Given the description of an element on the screen output the (x, y) to click on. 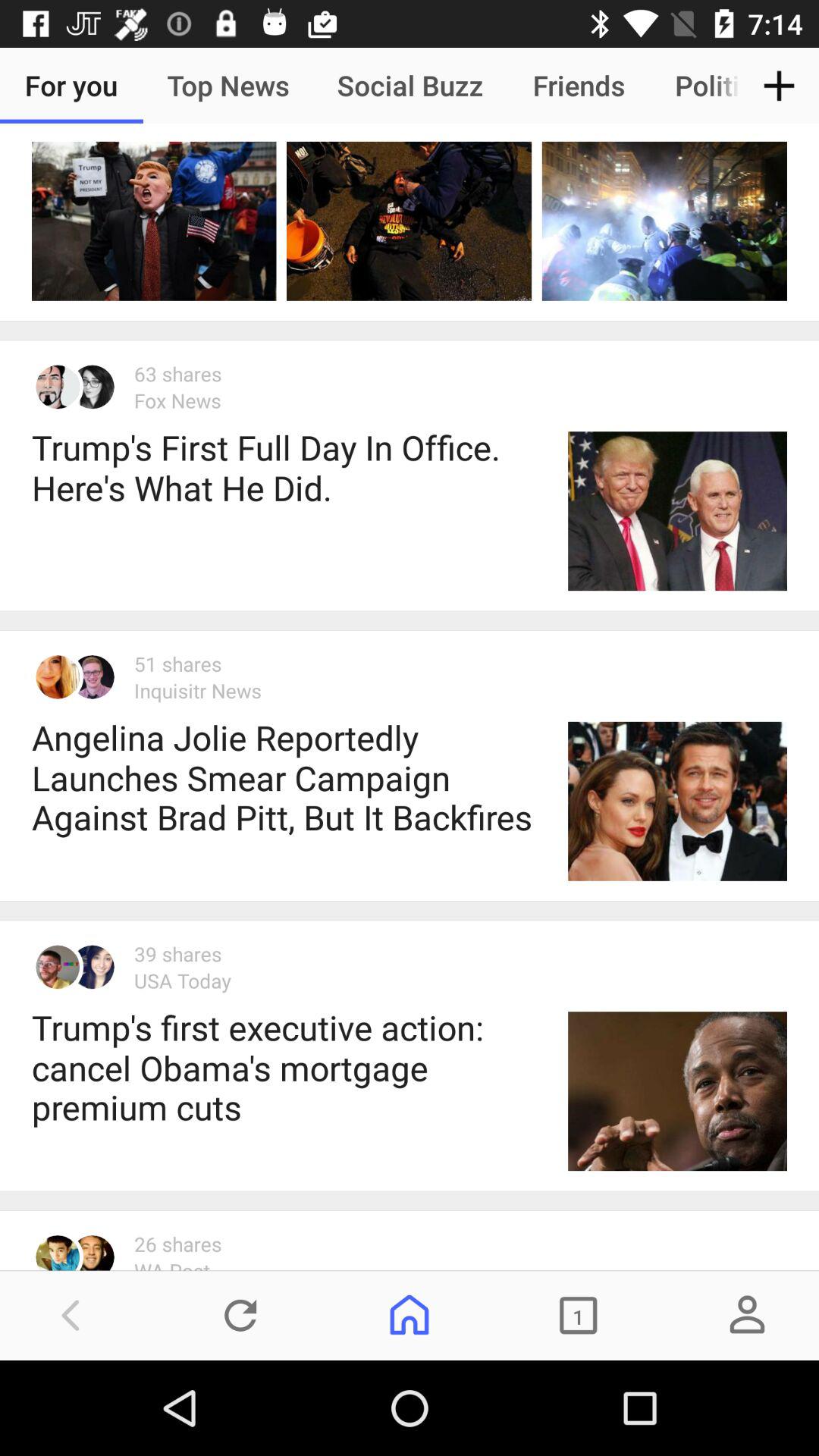
click item to the right of politics icon (779, 85)
